Given the description of an element on the screen output the (x, y) to click on. 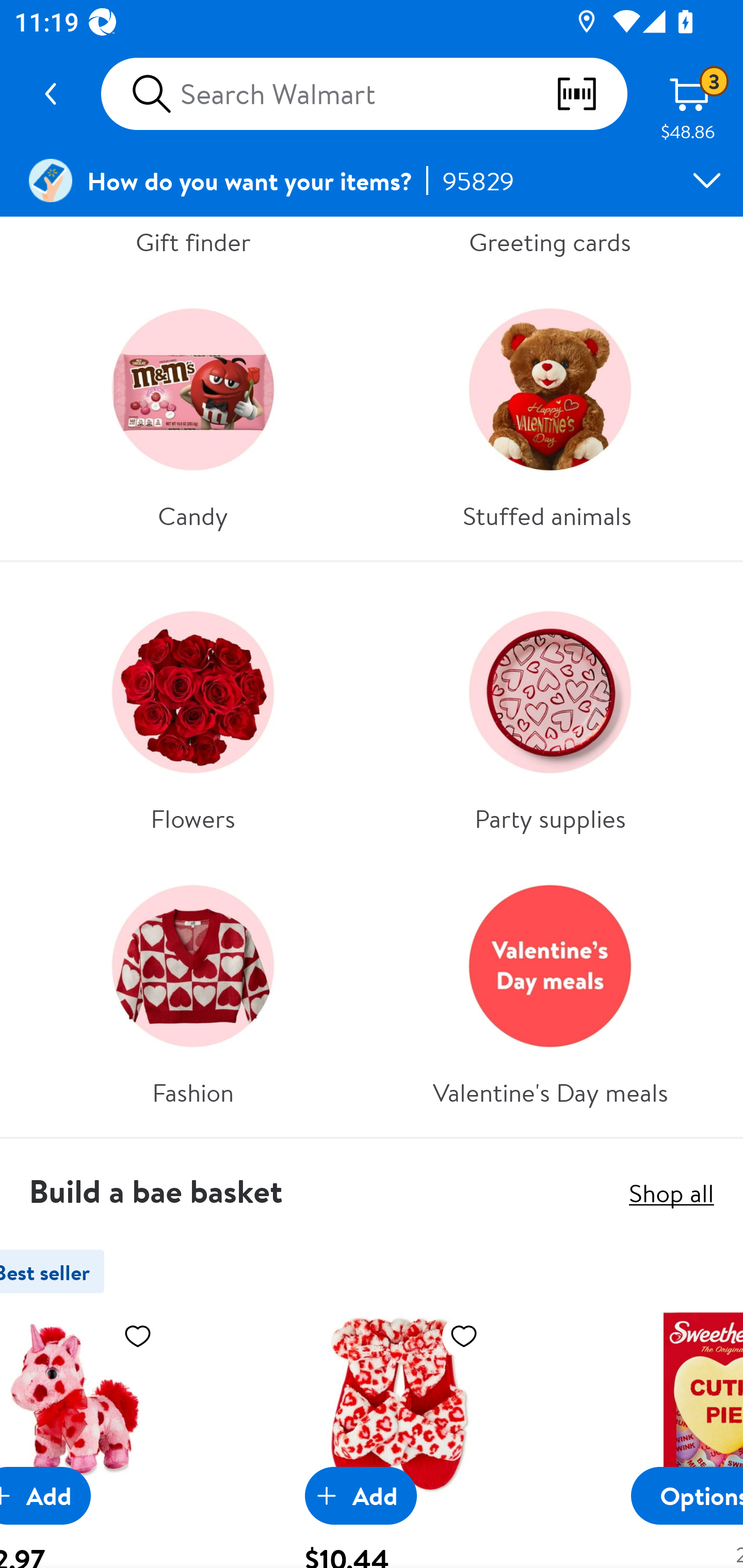
Navigate up (50, 93)
Search Walmart scan barcodes qr codes and more (364, 94)
scan barcodes qr codes and more (591, 94)
Candy (192, 410)
Stuffed animals  (549, 410)
Flowers (192, 713)
Party supplies (549, 713)
Fashion (192, 987)
Valentine's Day meals (549, 987)
Shop all Shop all,Build a bae basket (671, 1193)
